Given the description of an element on the screen output the (x, y) to click on. 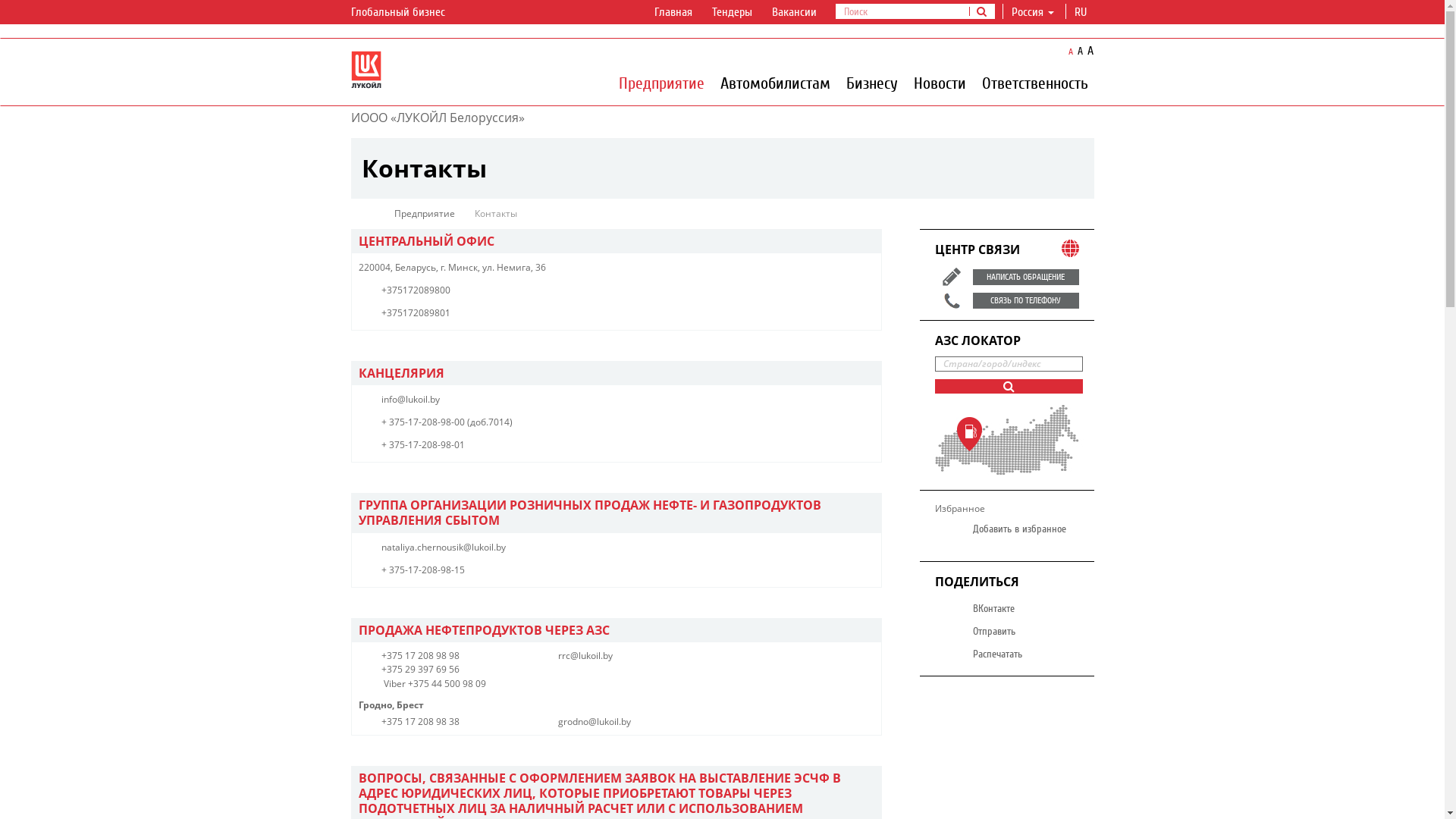
+375 17 208 98 38 Element type: text (419, 721)
+375 17 208 98 98 Element type: text (419, 655)
A Element type: text (1089, 51)
+ Element type: text (382, 421)
A Element type: text (1070, 51)
info@lukoil.by Element type: text (409, 398)
RU  Element type: text (1079, 11)
grodno@lukoil.by Element type: text (594, 721)
nataliya.chernousik@lukoil.by Element type: text (442, 546)
+ Element type: text (382, 569)
+375 29 397 69 56 Element type: text (419, 668)
rrc@lukoil.by Element type: text (585, 655)
+375172089800 Element type: text (414, 289)
A Element type: text (1079, 51)
